Given the description of an element on the screen output the (x, y) to click on. 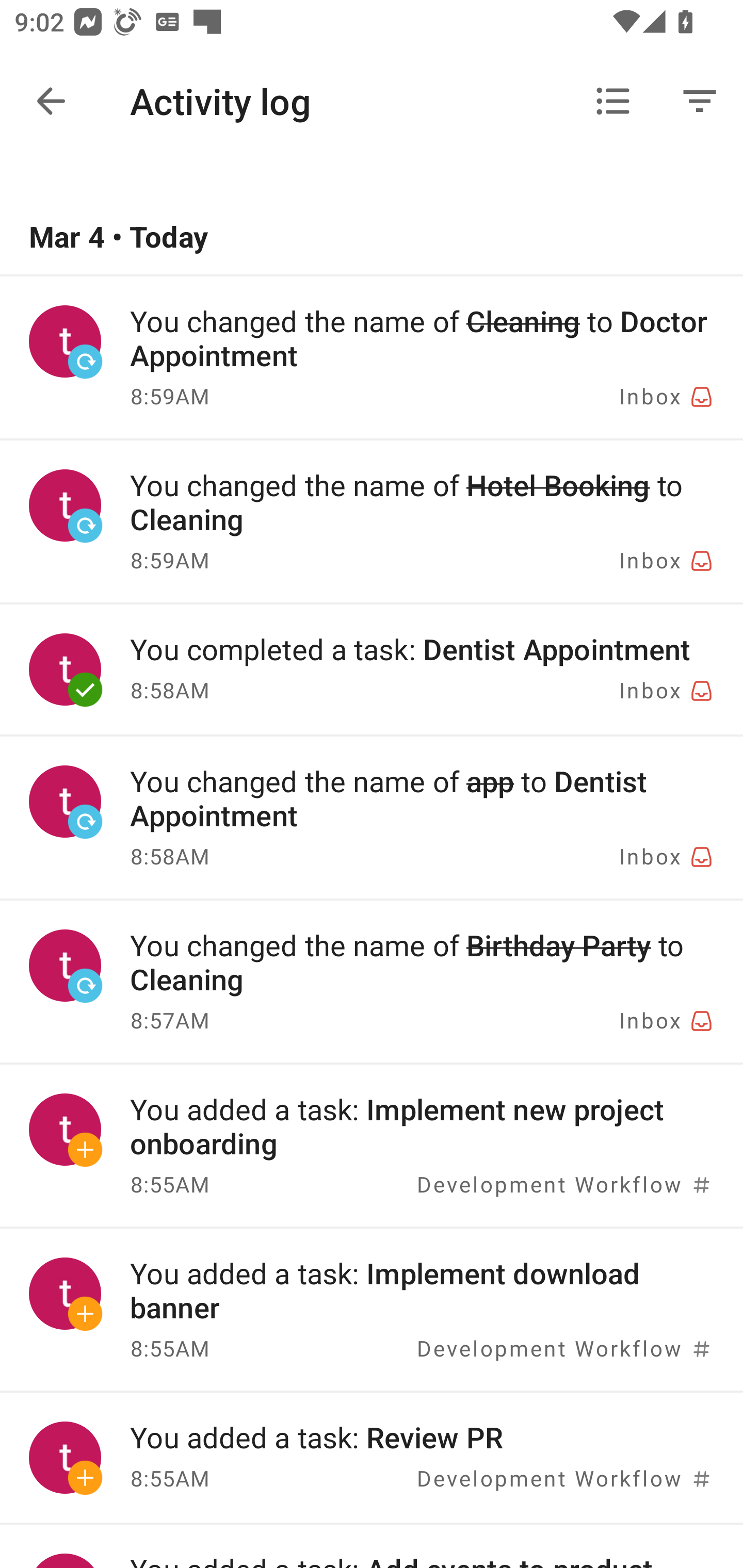
Navigate up (50, 101)
By project (612, 101)
Filter (699, 101)
Mar 4 • Today (371, 238)
